Given the description of an element on the screen output the (x, y) to click on. 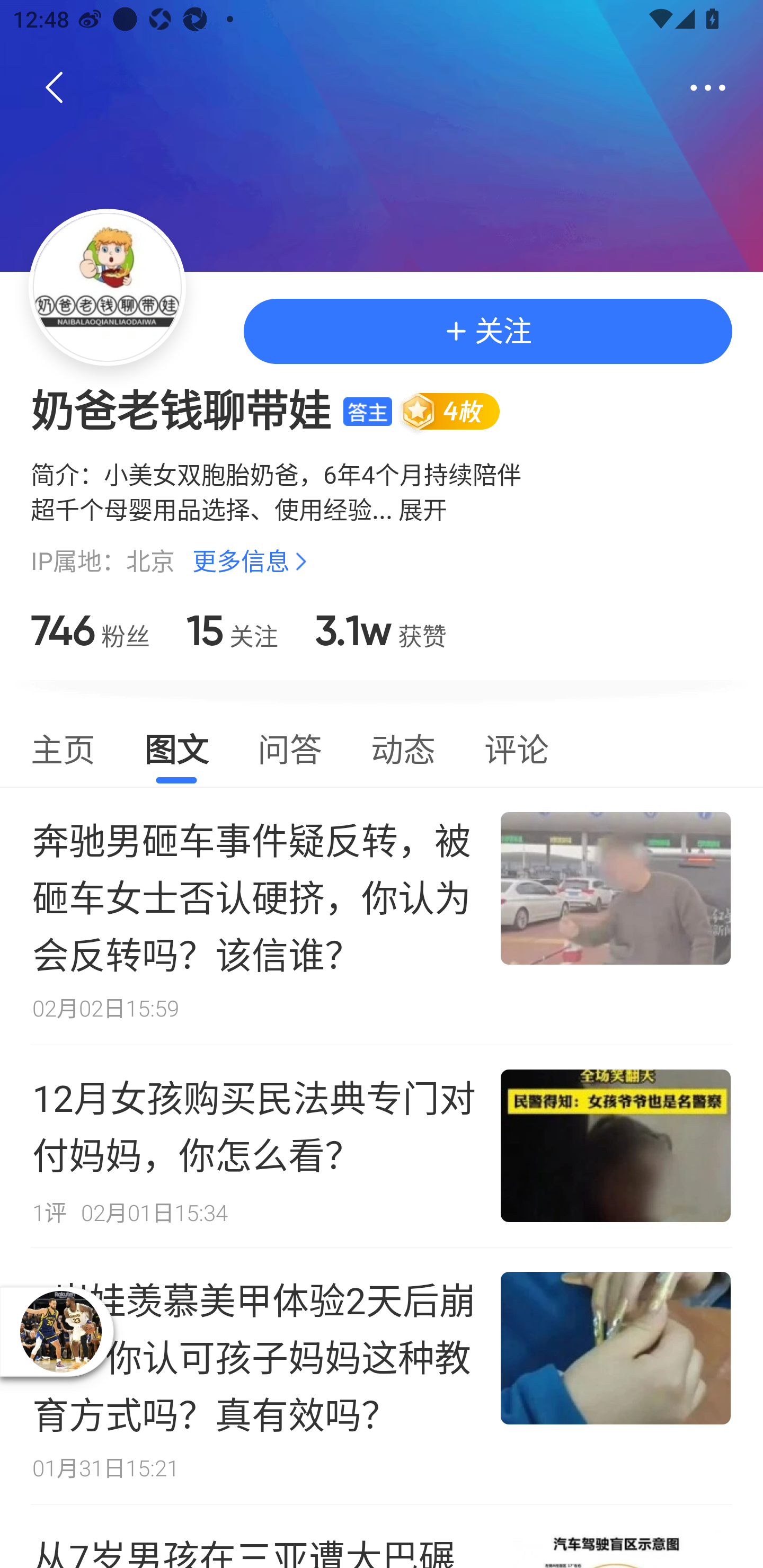
 返回 (54, 87)
 更多 (707, 87)
 关注 (487, 331)
4枚 (457, 411)
简介：小美女双胞胎奶爸，6年4个月持续陪伴
超千个母婴用品选择、使用经验... 展开   (381, 490)
746 粉丝 (90, 630)
15 关注 (232, 630)
3.1w 获赞 (380, 630)
主页 (62, 746)
图文 (176, 746)
问答 (289, 746)
动态 (403, 746)
评论 (516, 746)
奔驰男砸车事件疑反转，被砸车女士否认硬挤，你认为会反转吗？该信谁？ 02月02日15:59 (381, 915)
12月女孩购买民法典专门对付妈妈，你怎么看？ 1评 02月01日15:34 (381, 1145)
6岁娃羡慕美甲体验2天后崩溃，你认可孩子妈妈这种教育方式吗？真有效吗？ 01月31日15:21 (381, 1375)
播放器 (60, 1331)
